Given the description of an element on the screen output the (x, y) to click on. 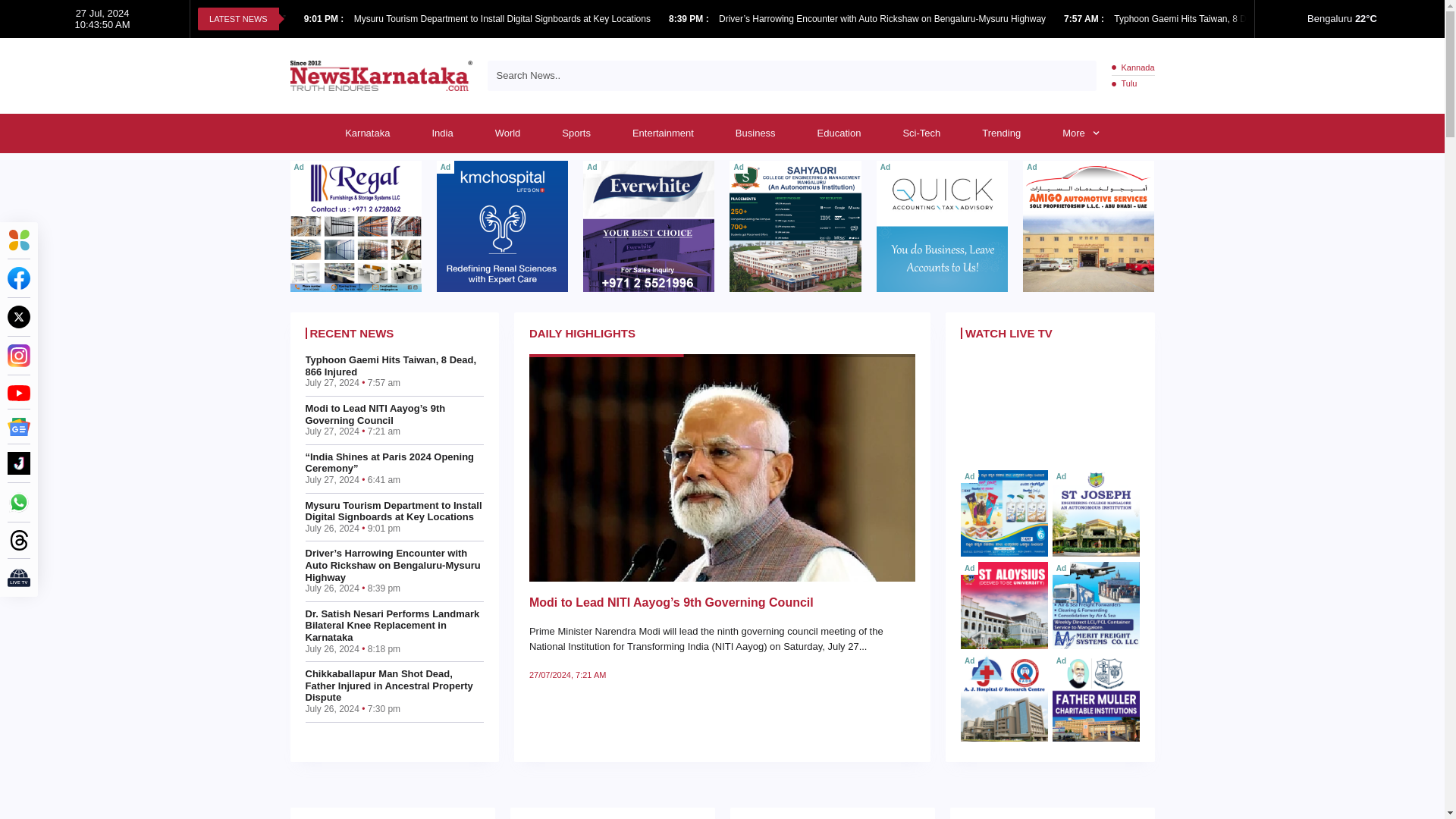
Published on: July 26, 2024 9:01 pm (325, 18)
Published on: July 26, 2024 8:39 pm (689, 18)
Published on: July 27, 2024 7:57 am (1085, 18)
7:57 AM : Typhoon Gaemi Hits Taiwan, 8 Dead, 866 Injured (1188, 18)
